Given the description of an element on the screen output the (x, y) to click on. 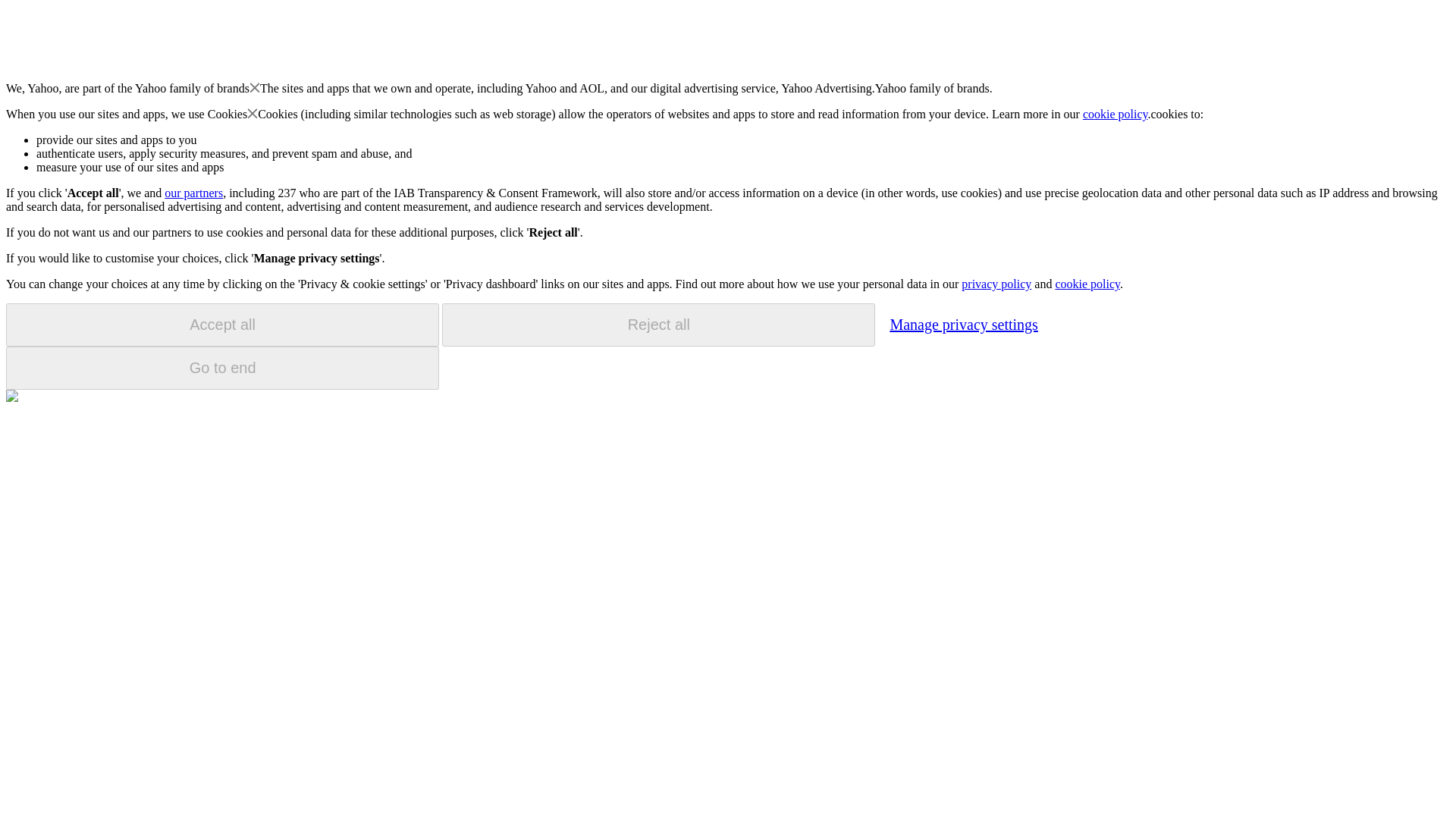
Accept all (222, 324)
Go to end (222, 367)
Reject all (658, 324)
cookie policy (1086, 283)
cookie policy (1115, 113)
privacy policy (995, 283)
Manage privacy settings (963, 323)
our partners (193, 192)
